Given the description of an element on the screen output the (x, y) to click on. 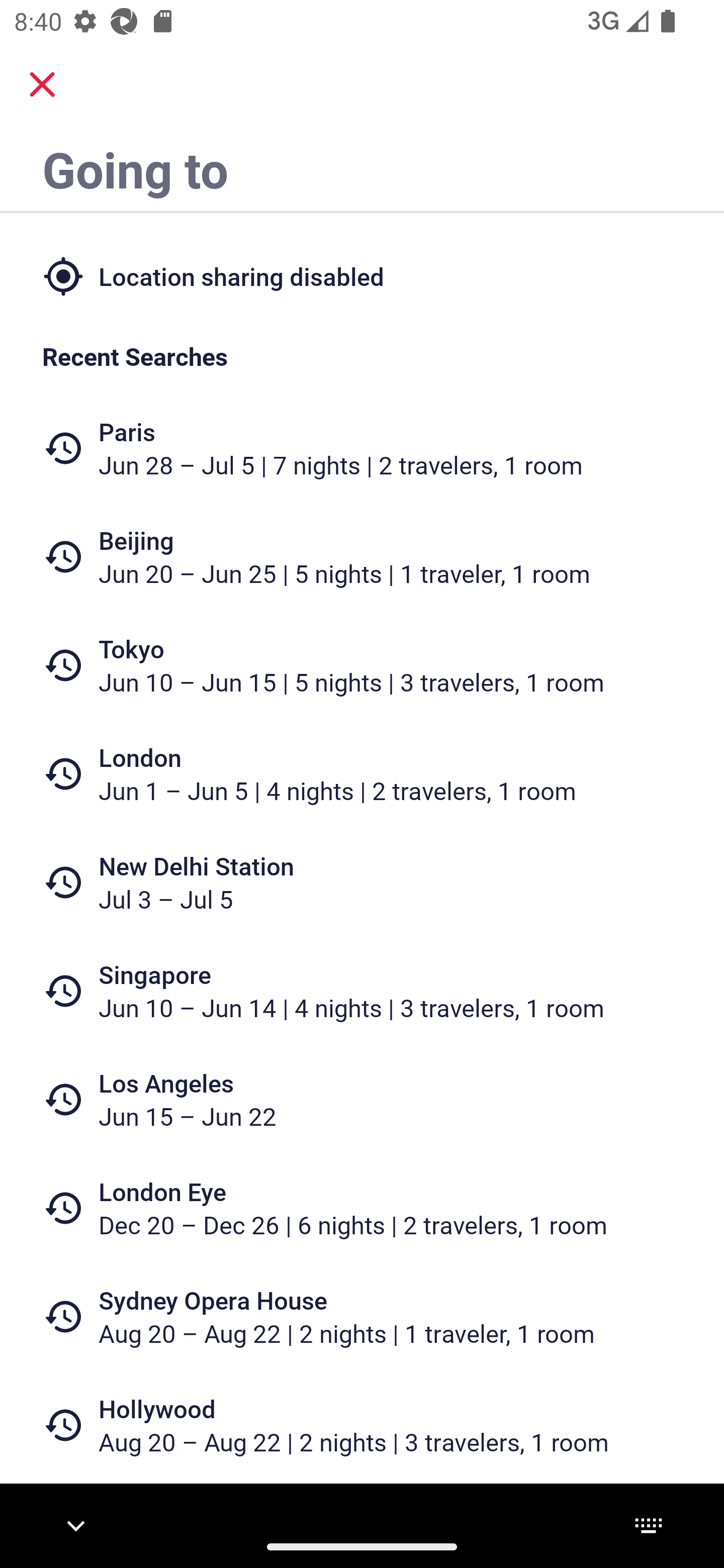
close. (42, 84)
Location sharing disabled (362, 275)
New Delhi Station Jul 3 – Jul 5 (362, 881)
Los Angeles Jun 15 – Jun 22 (362, 1099)
